Given the description of an element on the screen output the (x, y) to click on. 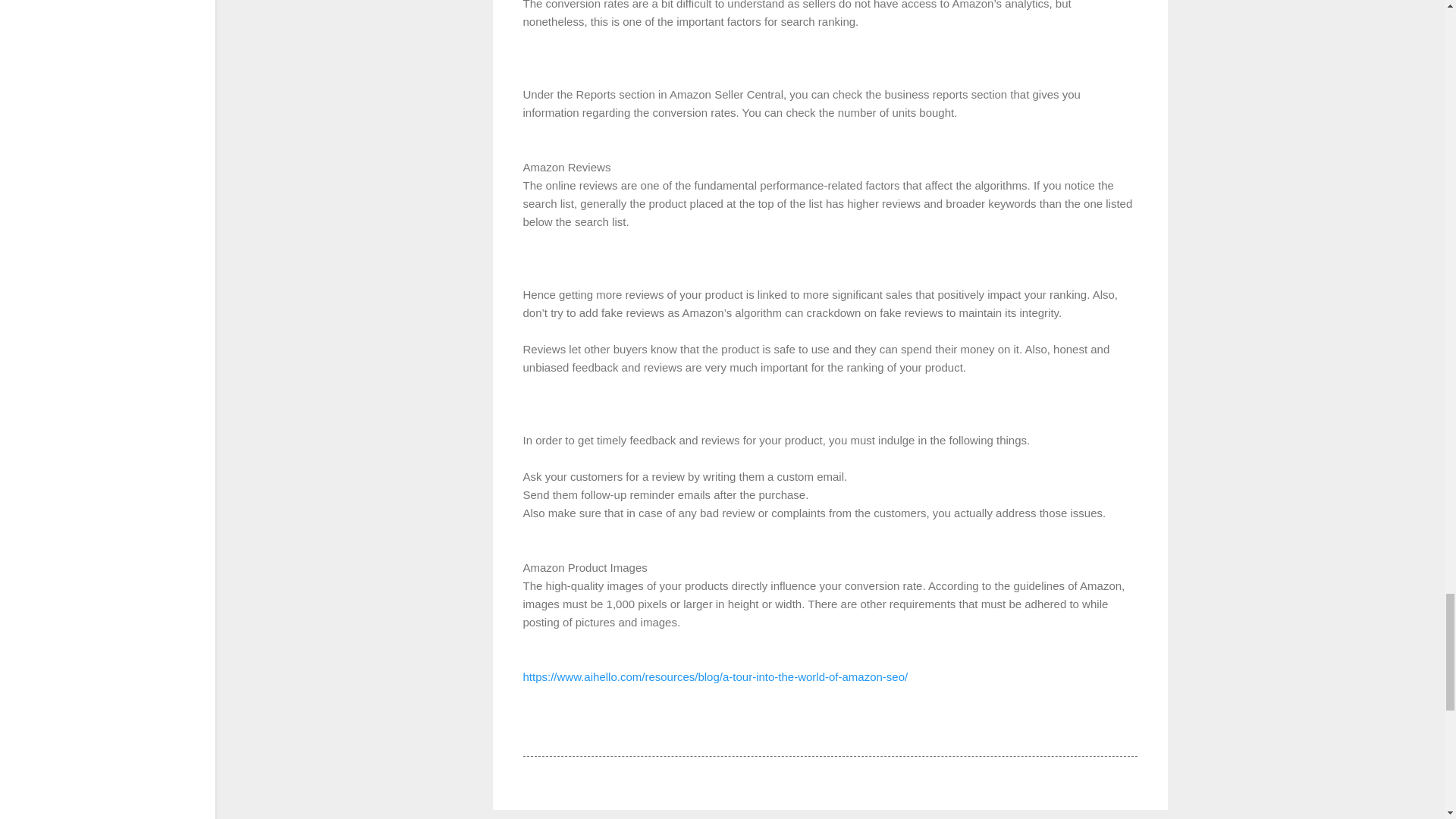
Email Post (562, 727)
